Given the description of an element on the screen output the (x, y) to click on. 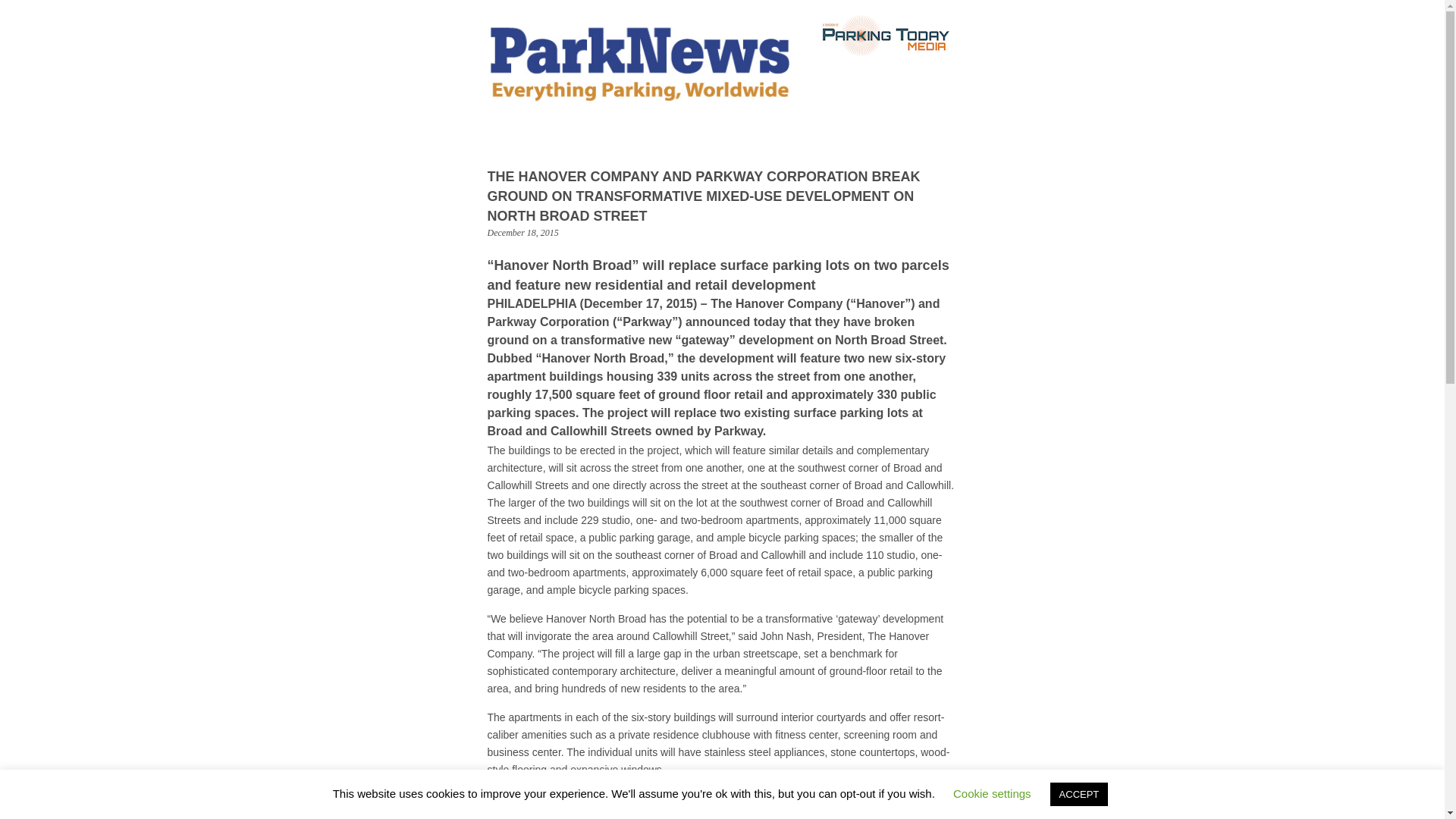
ACCEPT (1078, 793)
Cookie settings (991, 793)
